Given the description of an element on the screen output the (x, y) to click on. 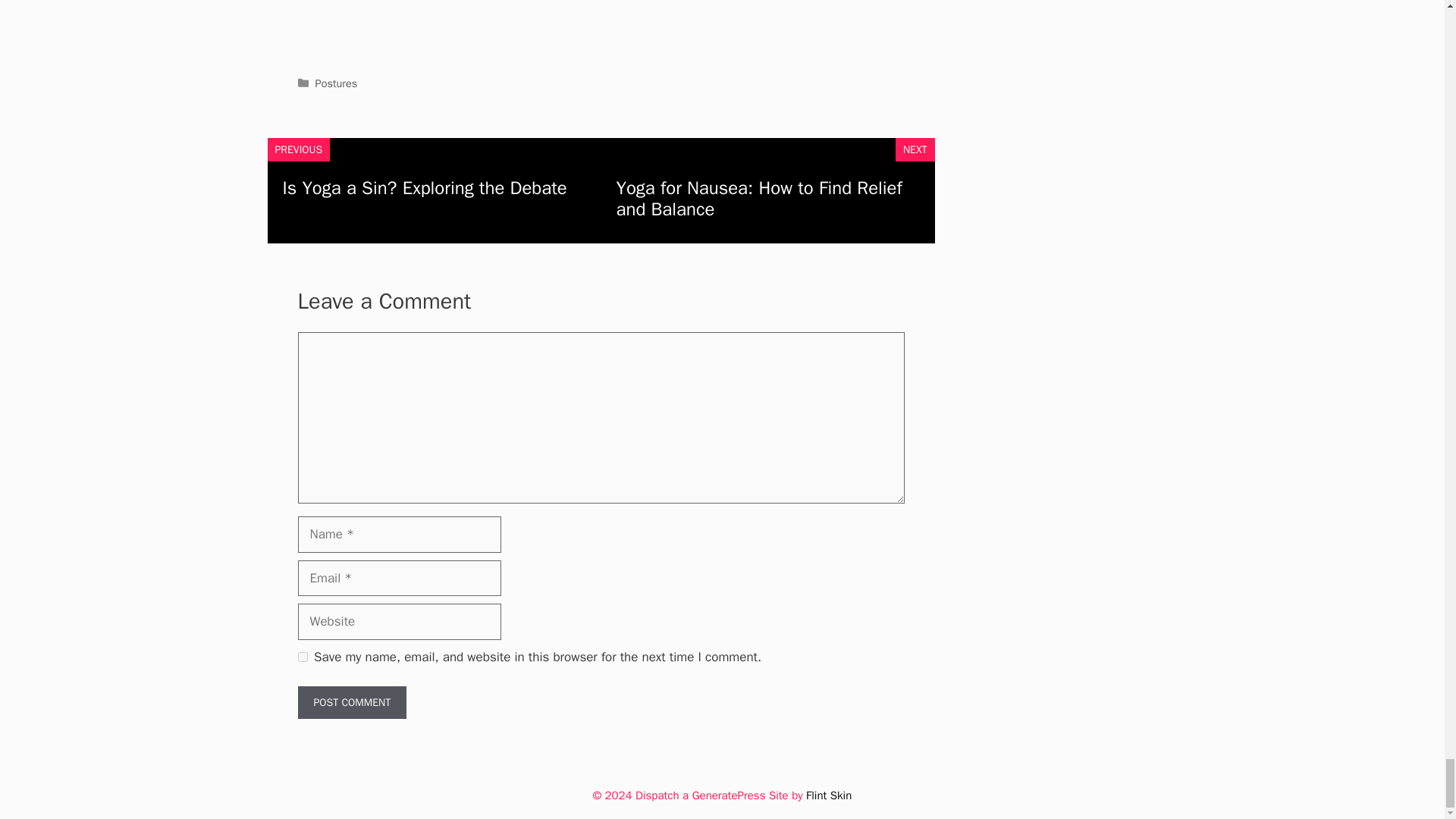
YouTube video player (600, 23)
Postures (336, 83)
yes (302, 656)
Yoga for Nausea: How to Find Relief and Balance (758, 198)
Is Yoga a Sin? Exploring the Debate (424, 187)
Post Comment (351, 702)
